Given the description of an element on the screen output the (x, y) to click on. 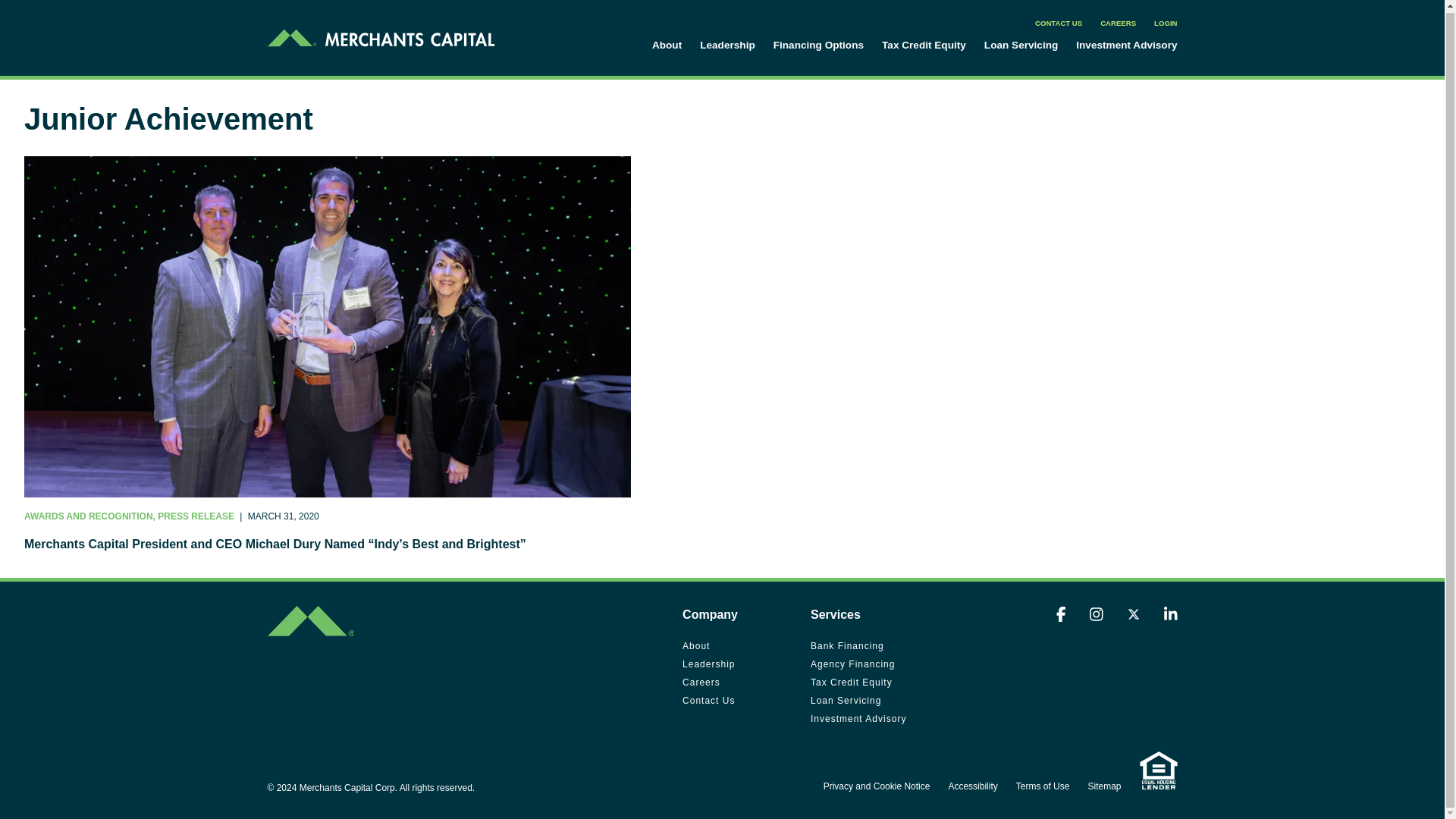
Bank Financing (846, 645)
Careers (701, 682)
CONTACT US (1058, 21)
CAREERS (1117, 21)
Investment Advisory (857, 718)
Financing Options (818, 43)
Tax Credit Equity (924, 43)
Contact Us (708, 700)
Investment Advisory (1125, 43)
LOGIN (1165, 21)
About (696, 645)
Tax Credit Equity (851, 682)
Leadership (727, 43)
Agency Financing (852, 663)
Loan Servicing (1021, 43)
